Given the description of an element on the screen output the (x, y) to click on. 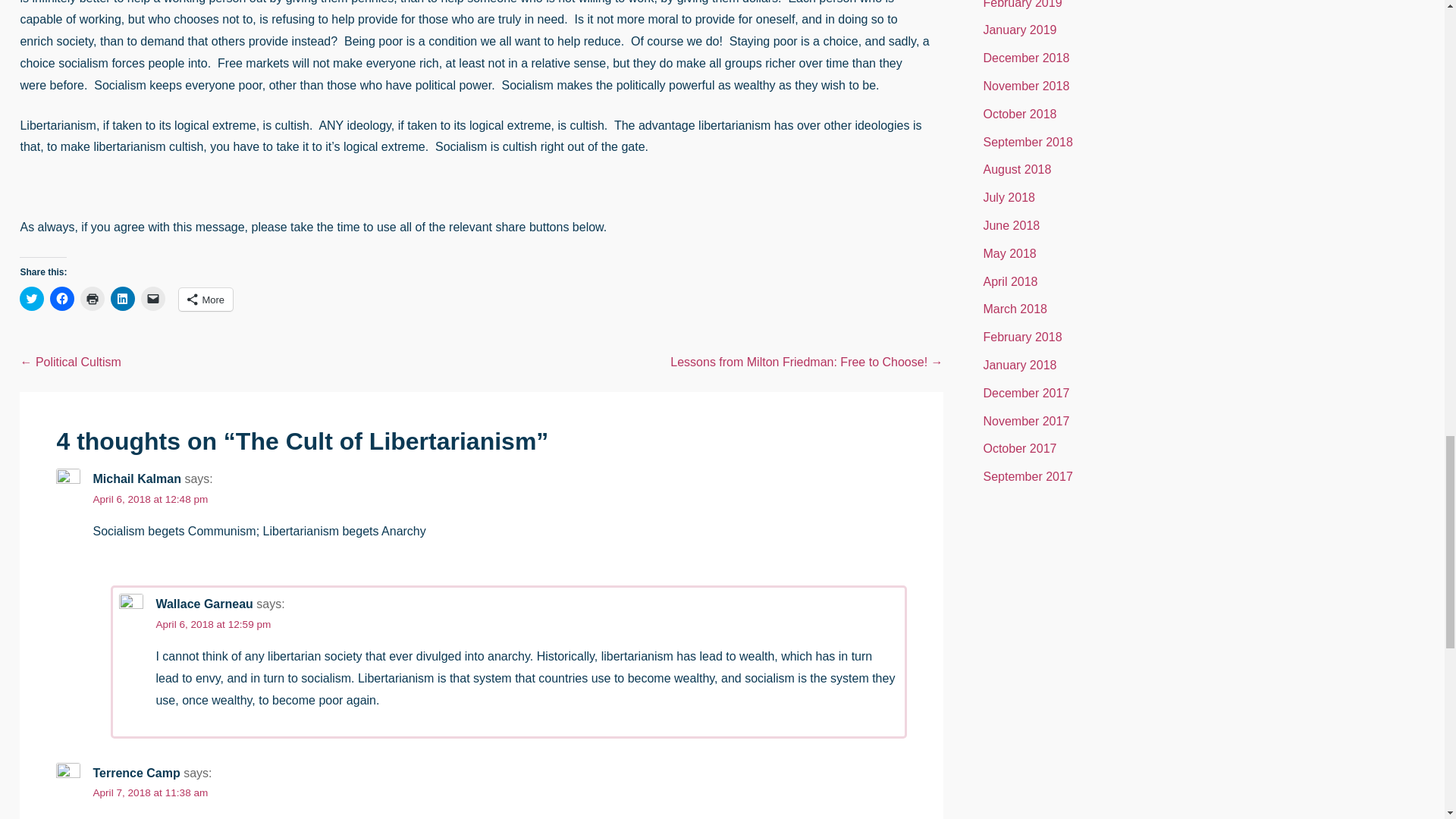
Click to share on Twitter (31, 298)
April 6, 2018 at 12:48 pm (150, 499)
More (205, 299)
April 7, 2018 at 11:38 am (150, 792)
Click to email a link to a friend (153, 298)
Click to share on LinkedIn (122, 298)
Click to print (92, 298)
Click to share on Facebook (61, 298)
April 6, 2018 at 12:59 pm (212, 624)
